Given the description of an element on the screen output the (x, y) to click on. 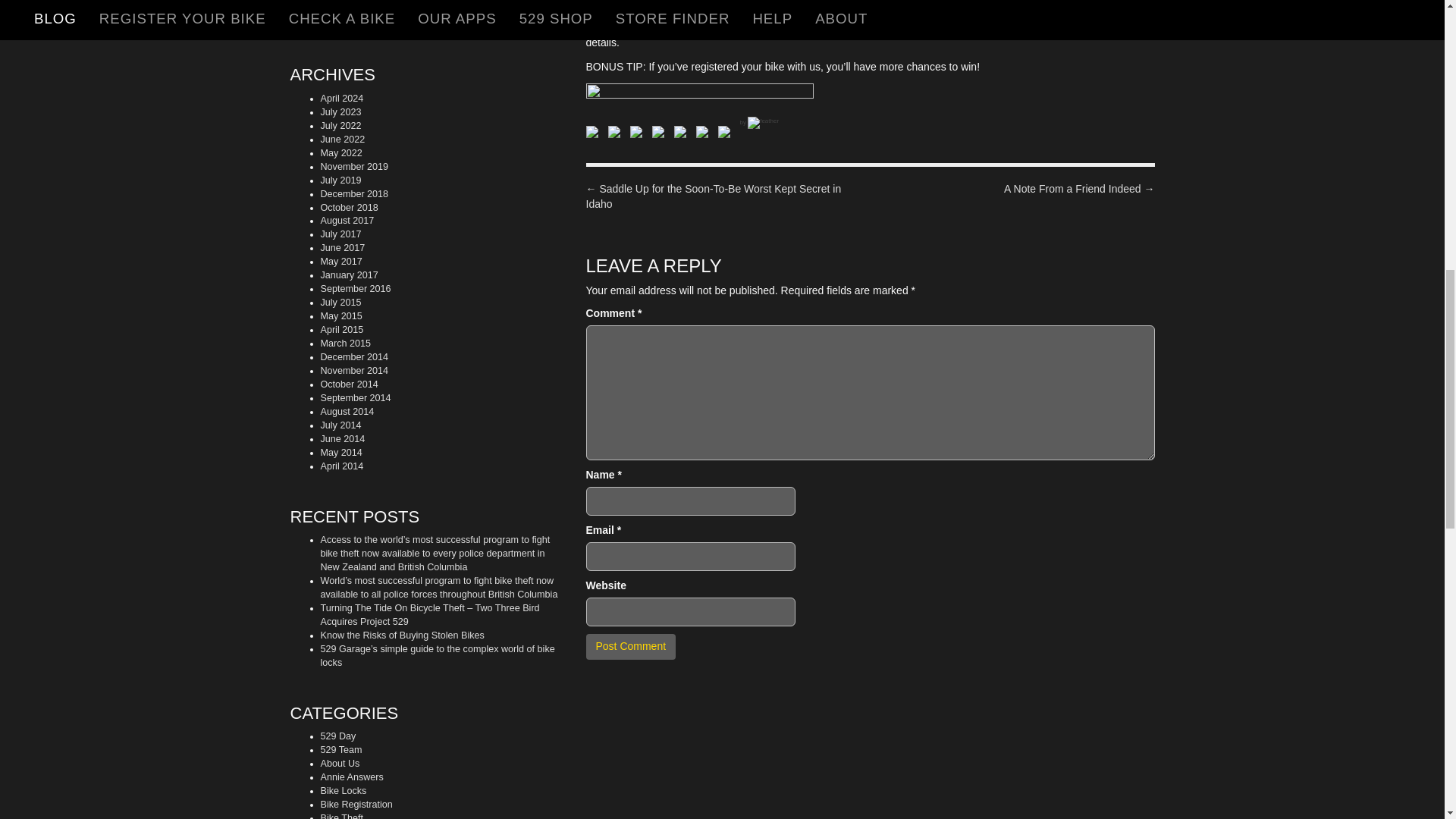
Share on Linkedin (681, 135)
Share on tumblr (704, 135)
Share on Twitter (614, 132)
Share by email (723, 132)
Share on Reddit (637, 135)
Share on Facebook (590, 132)
Pin it with Pinterest (660, 135)
by (758, 122)
Post Comment (630, 646)
Share by email (726, 135)
Share on Facebook (594, 135)
Pin it with Pinterest (657, 132)
Share on tumblr (701, 132)
challenge page (1046, 25)
Share on Reddit (635, 132)
